Given the description of an element on the screen output the (x, y) to click on. 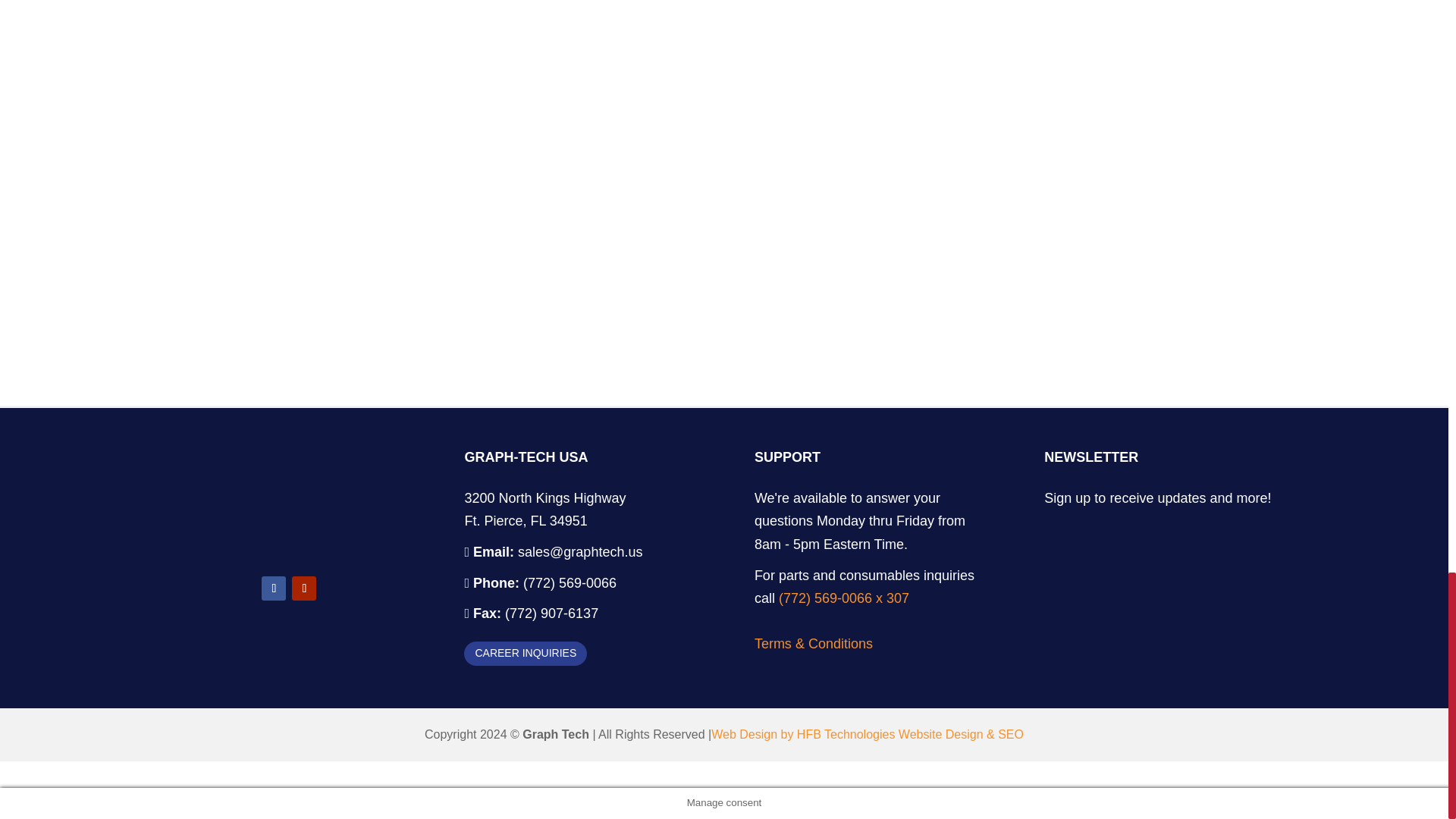
Follow on Youtube (303, 588)
Graph-Tech-Logo (288, 541)
Follow on Facebook (273, 588)
